Given the description of an element on the screen output the (x, y) to click on. 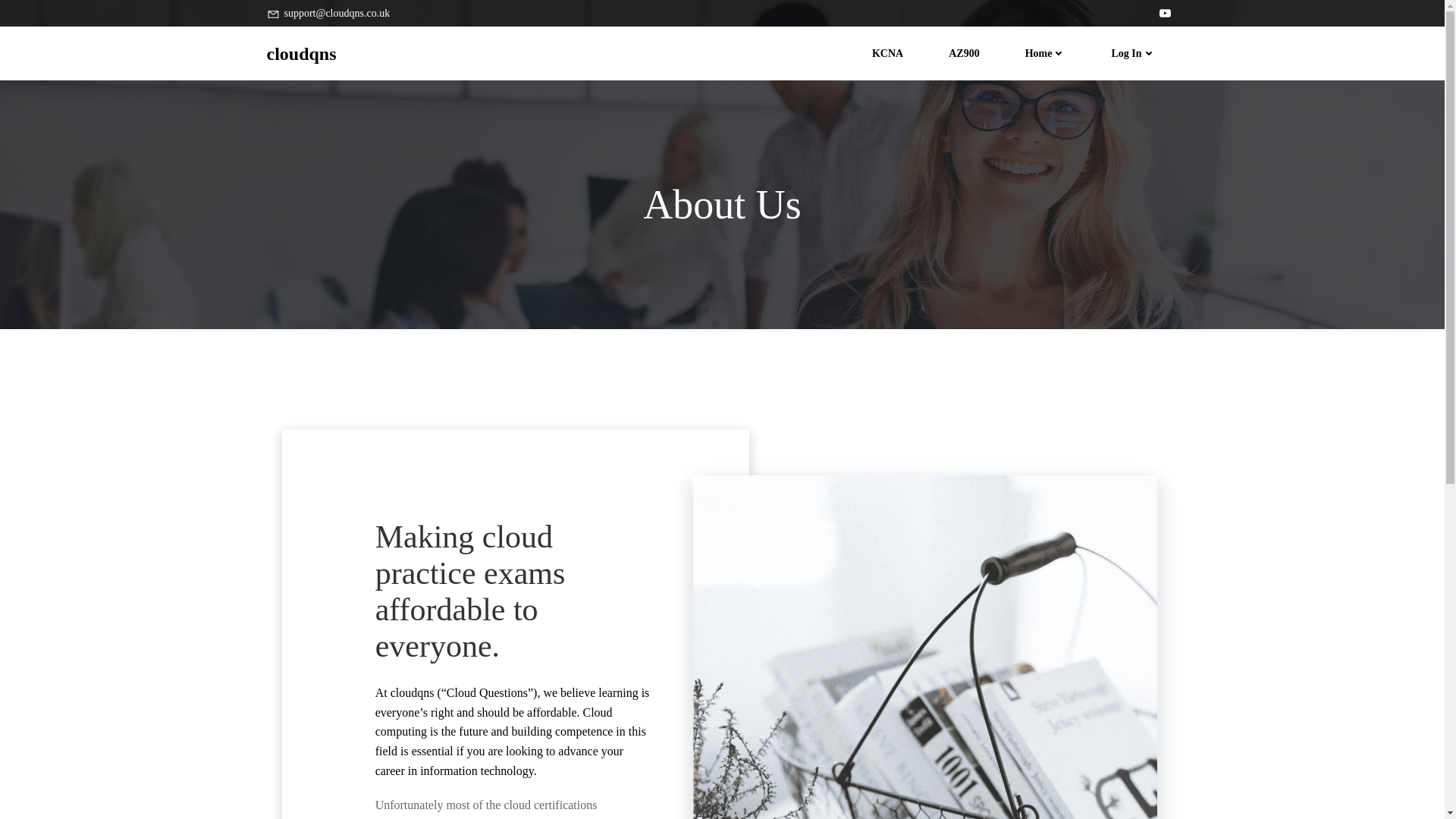
AZ900 (963, 53)
Log In (1132, 53)
KCNA (887, 53)
cloudqns (301, 52)
Home (1045, 53)
